Given the description of an element on the screen output the (x, y) to click on. 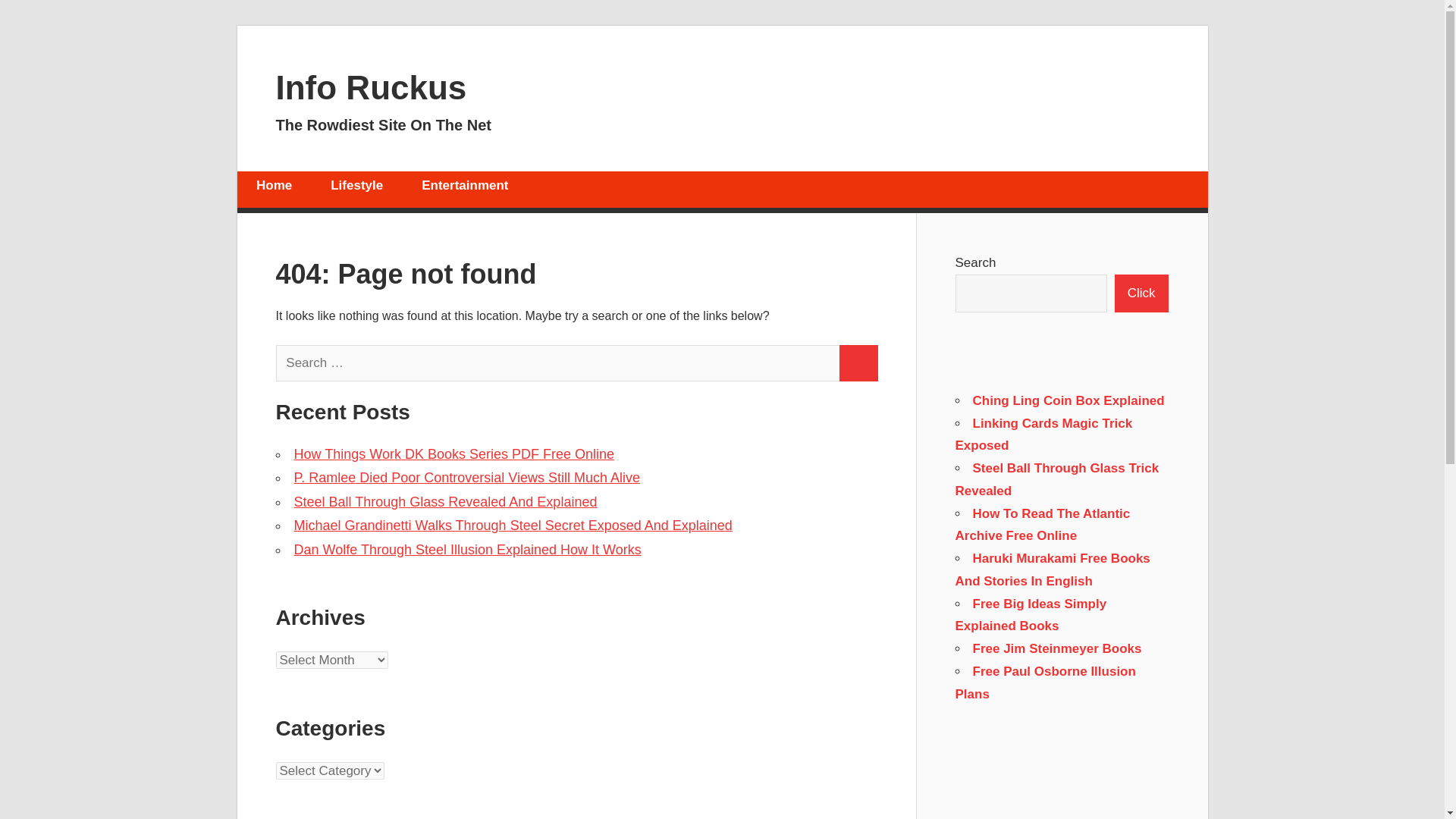
Dan Wolfe Through Steel Illusion Explained How It Works (468, 549)
Search (858, 362)
How Things Work DK Books Series PDF Free Online (454, 453)
Search for: (558, 362)
Entertainment (465, 189)
P. Ramlee Died Poor Controversial Views Still Much Alive (467, 477)
Lifestyle (357, 189)
Info Ruckus (371, 86)
